Given the description of an element on the screen output the (x, y) to click on. 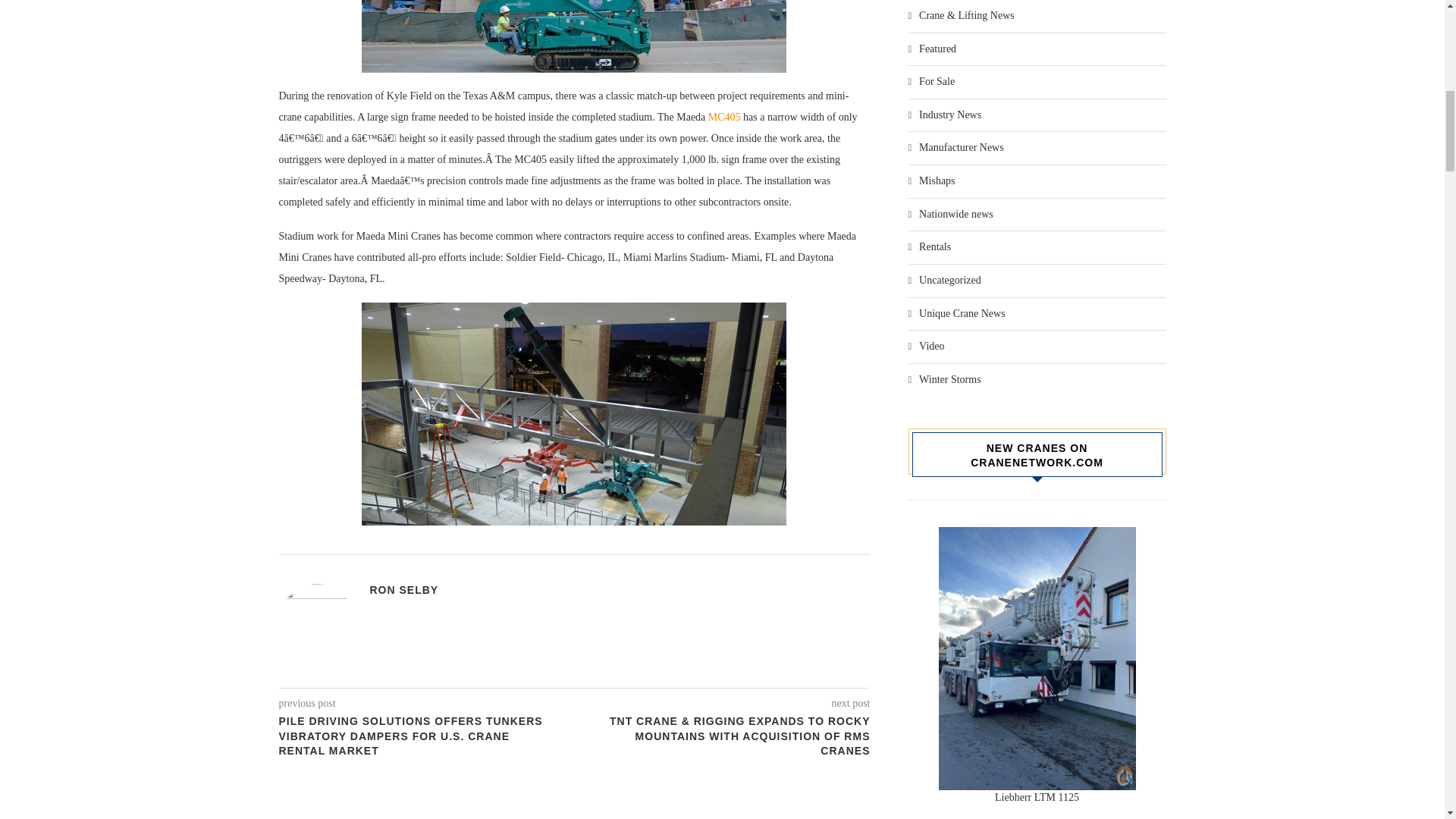
Posts by Ron Selby (404, 589)
